Given the description of an element on the screen output the (x, y) to click on. 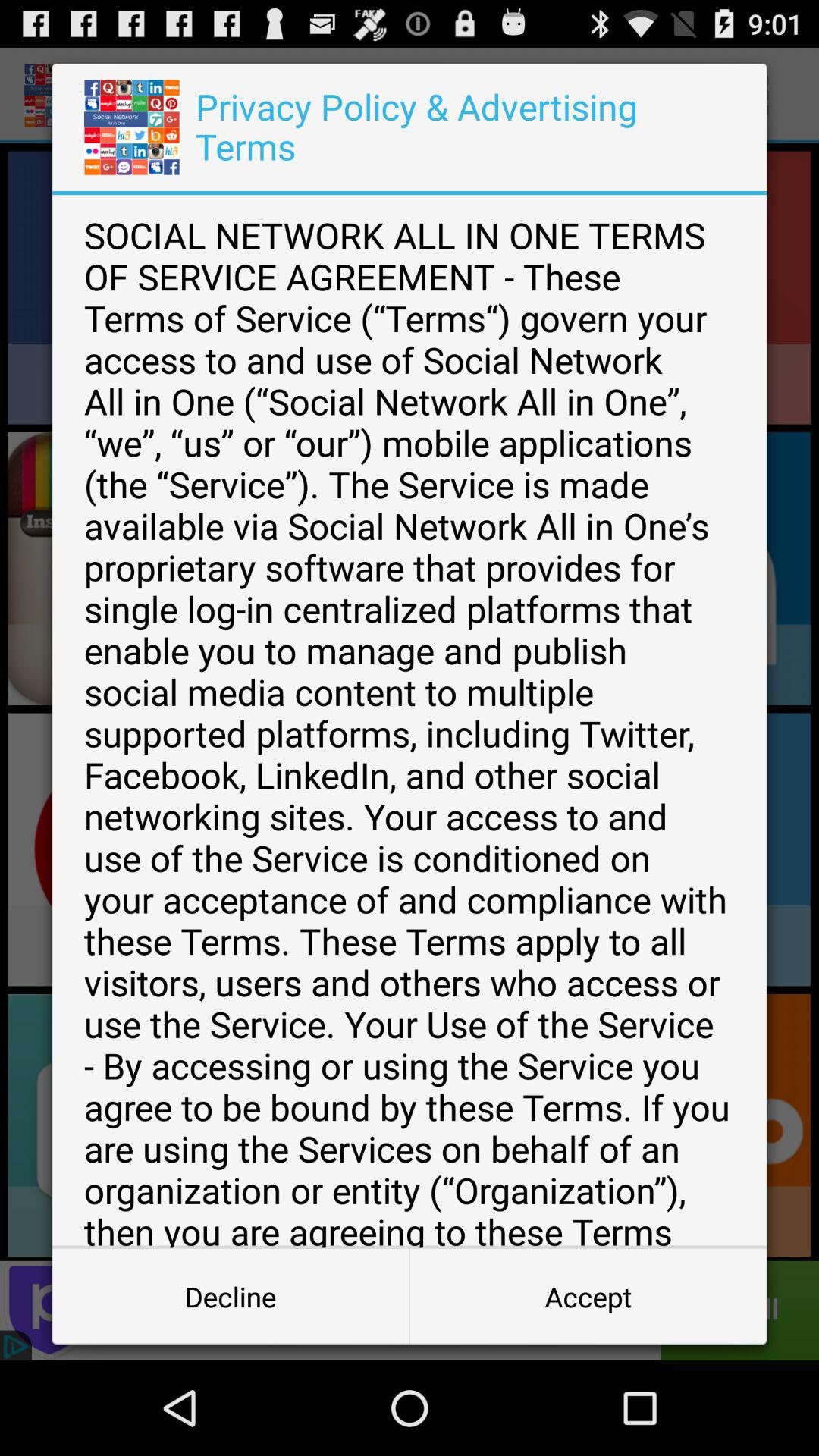
turn off the button next to accept icon (230, 1296)
